Given the description of an element on the screen output the (x, y) to click on. 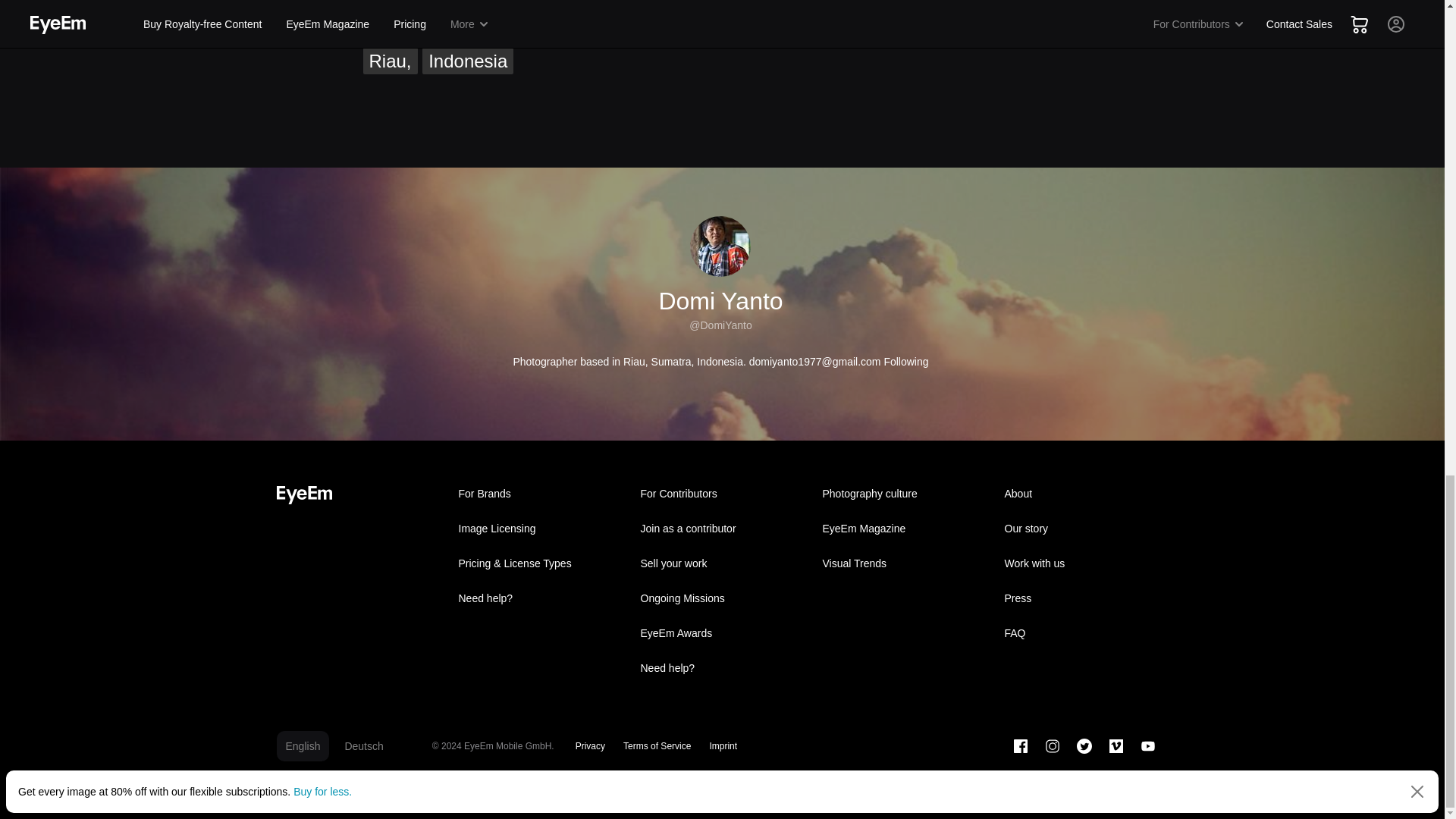
Orange Color (597, 6)
No People (482, 6)
Outdoors (707, 6)
Nature (395, 6)
